Given the description of an element on the screen output the (x, y) to click on. 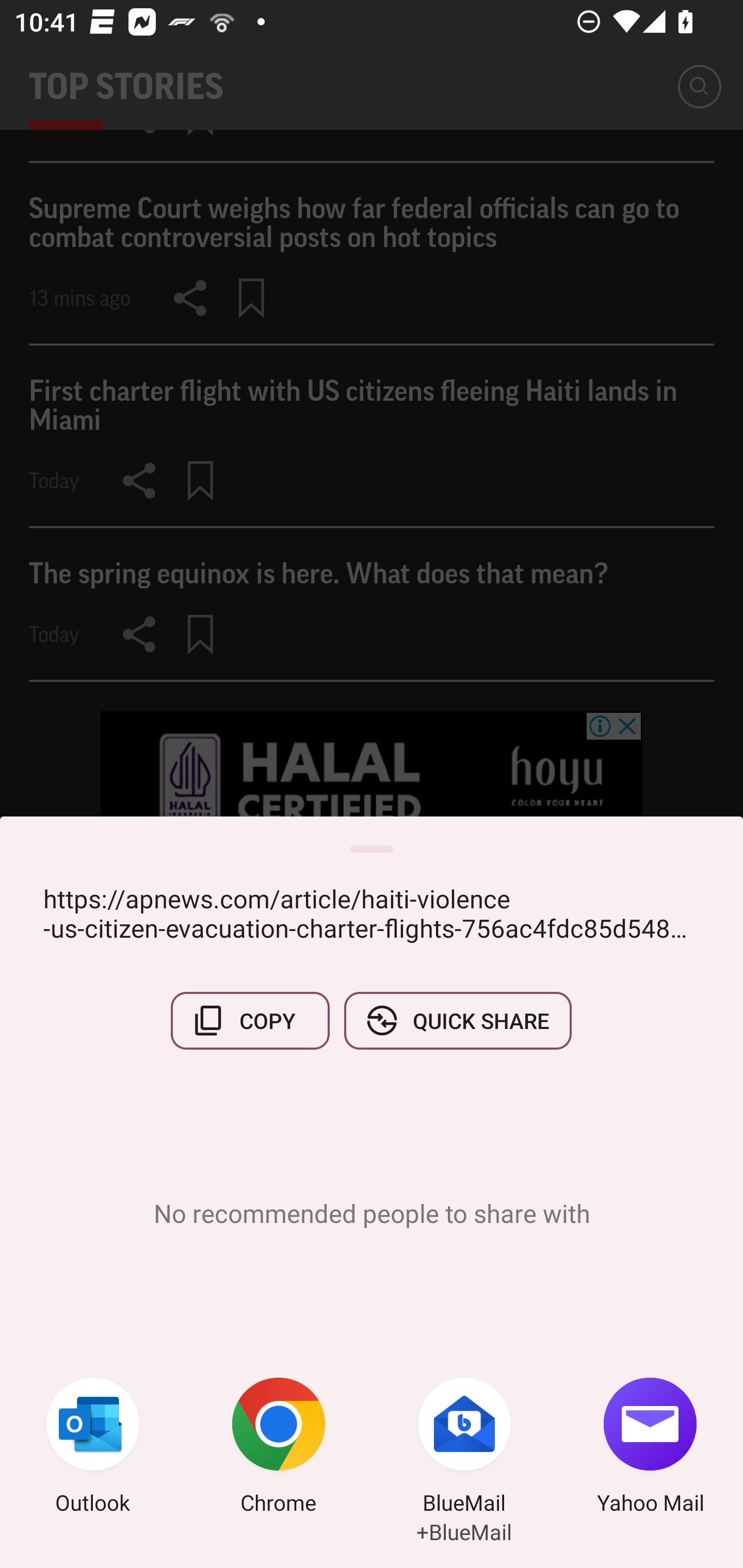
COPY (249, 1020)
QUICK SHARE (457, 1020)
Outlook (92, 1448)
Chrome (278, 1448)
BlueMail +BlueMail (464, 1448)
Yahoo Mail (650, 1448)
